Given the description of an element on the screen output the (x, y) to click on. 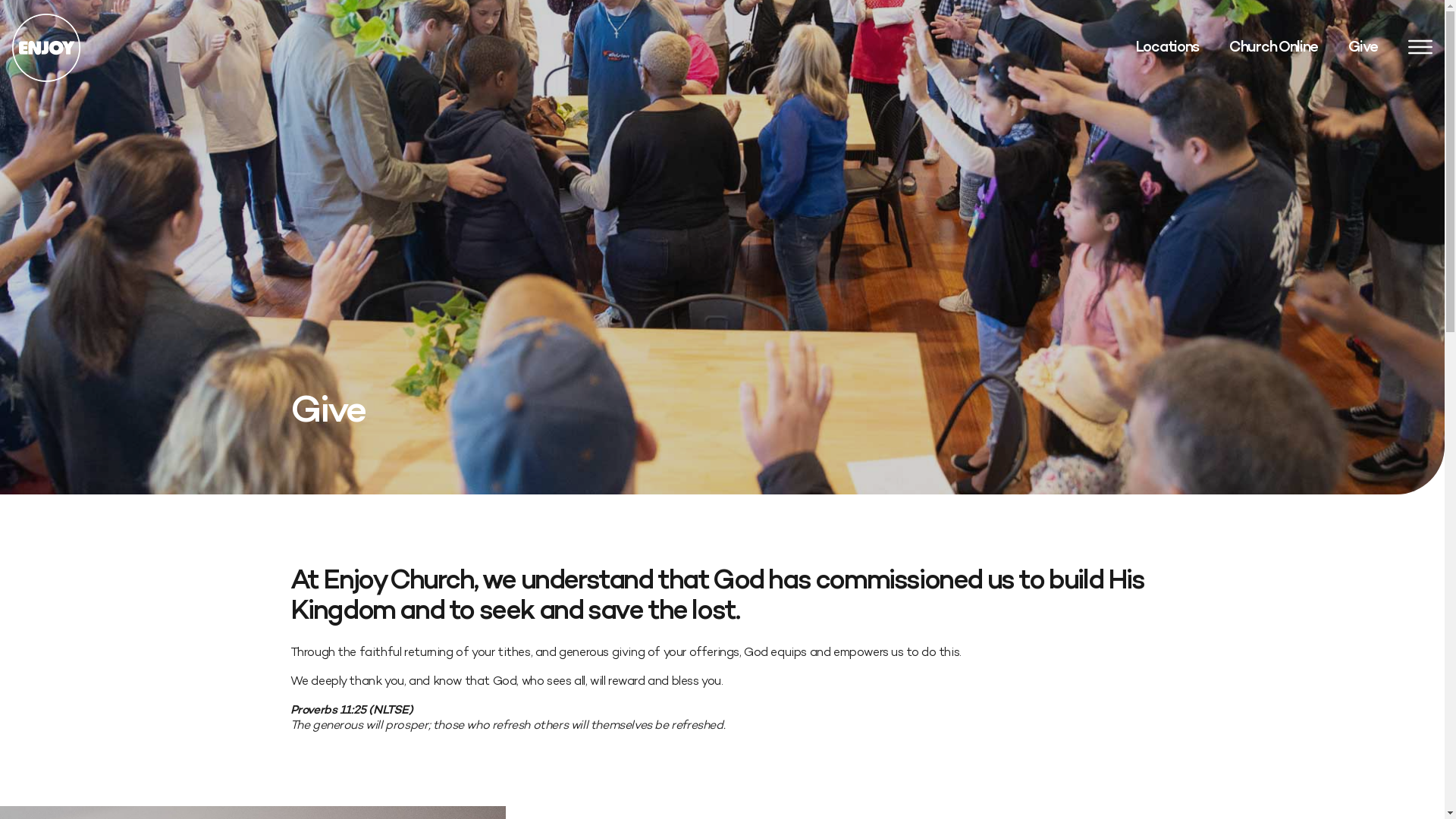
Locations Element type: text (1166, 47)
Church Online Element type: text (1273, 47)
Give Element type: text (1362, 47)
